Given the description of an element on the screen output the (x, y) to click on. 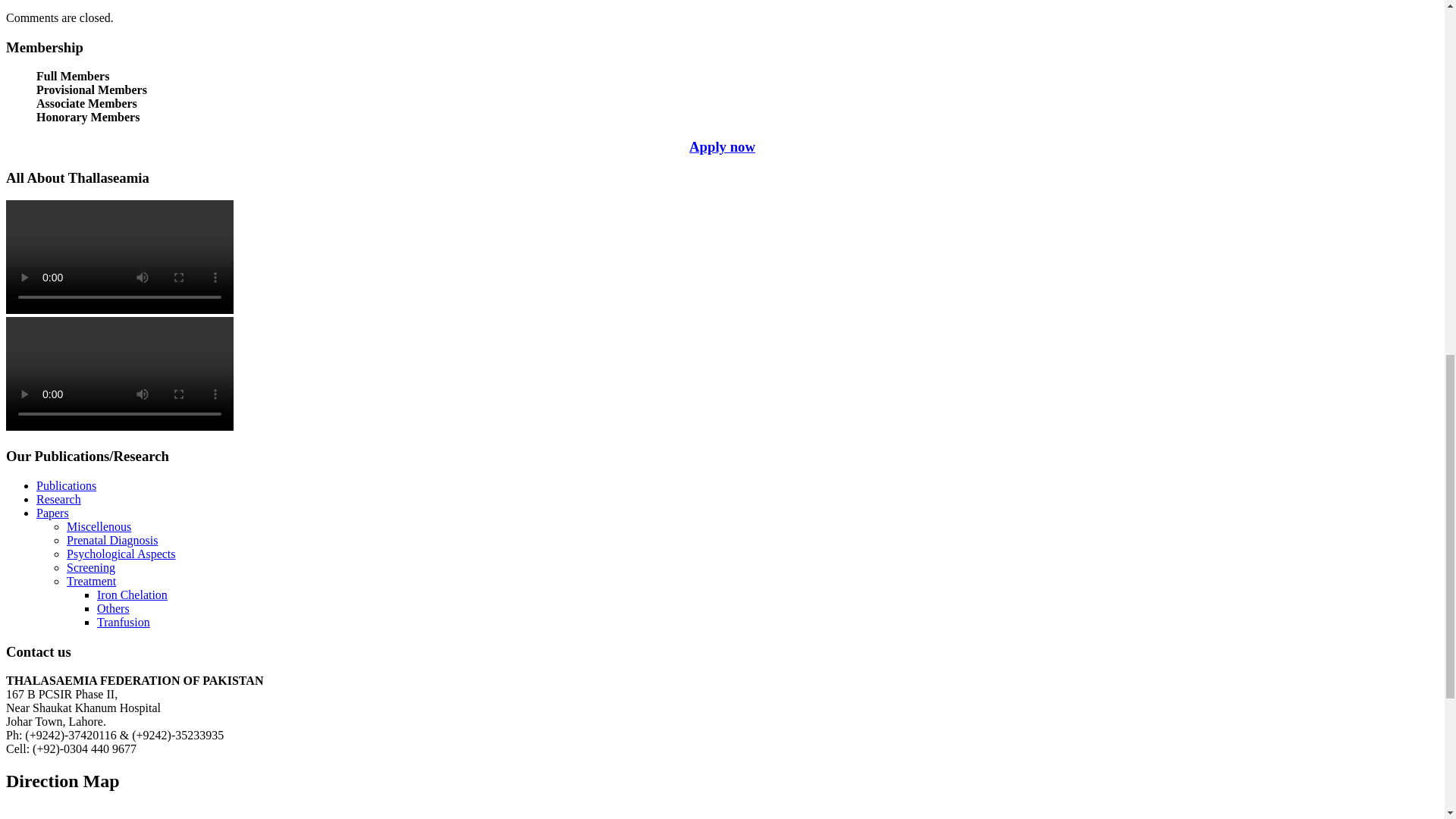
Research (58, 499)
Publications (66, 485)
Apply now (721, 146)
Prenatal Diagnosis (111, 540)
Miscellenous (98, 526)
Papers (52, 512)
Iron Chelation (132, 594)
Psychological Aspects (121, 553)
Screening (90, 567)
Treatment (91, 581)
